Given the description of an element on the screen output the (x, y) to click on. 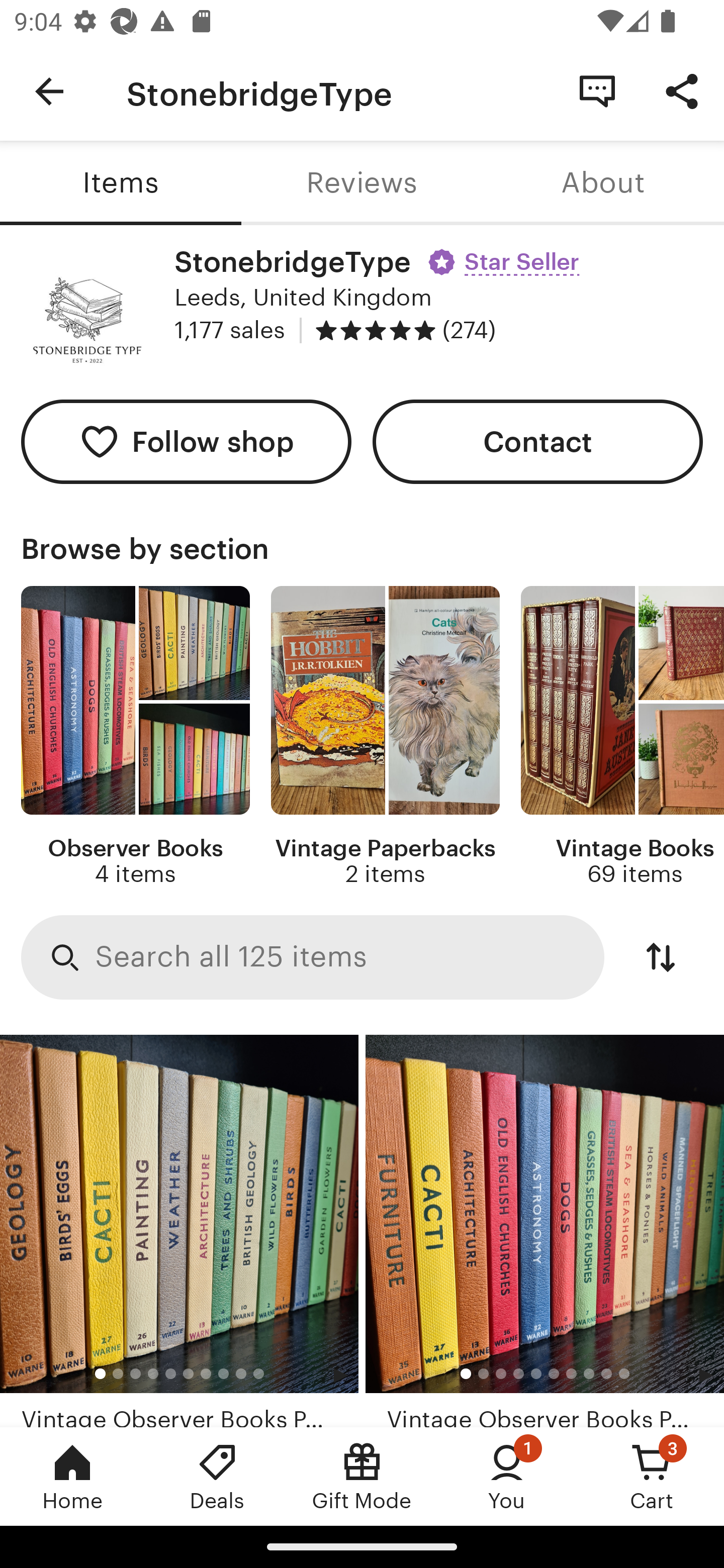
Navigate up (49, 91)
Contact Shop (597, 90)
Share (681, 90)
Reviews (361, 183)
About (603, 183)
Star Seller (506, 255)
Follow shop (185, 441)
Contact (537, 441)
Observer Books 4 items (134, 736)
Vintage Paperbacks 2 items (384, 736)
Vintage Books 69 items (622, 736)
Search Search all 125 items (312, 957)
Deals (216, 1475)
Gift Mode (361, 1475)
You, 1 new notification You (506, 1475)
Cart, 3 new notifications Cart (651, 1475)
